Given the description of an element on the screen output the (x, y) to click on. 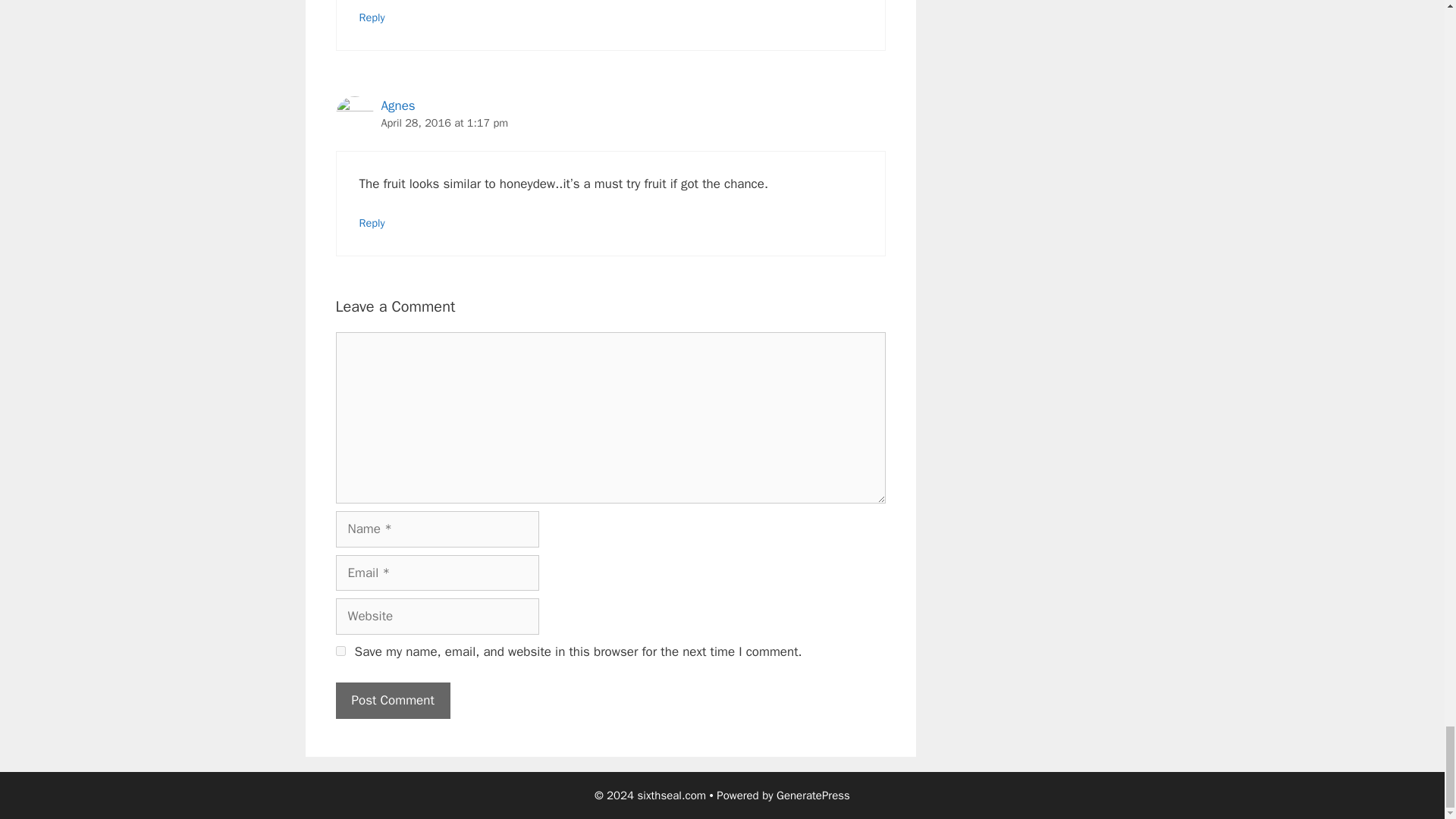
yes (339, 651)
Post Comment (391, 700)
